Given the description of an element on the screen output the (x, y) to click on. 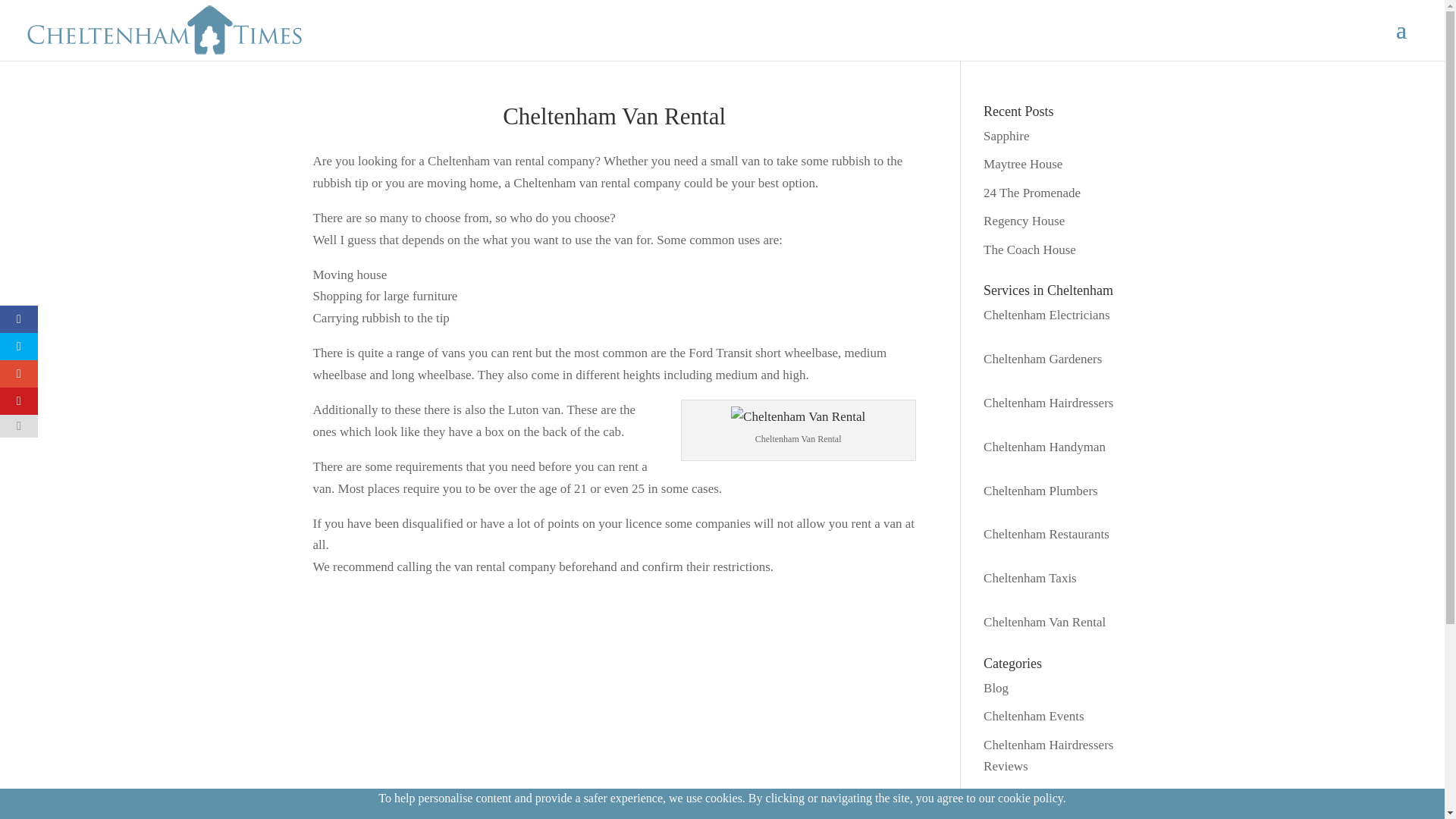
Cheltenham Plumbers (1040, 490)
A list of Cheltenham Electricians (1046, 314)
Regency House (1024, 220)
Cheltenham Hairdressers (1048, 402)
Cheltenham Van Rental (797, 416)
Cheltenham Van Rental (797, 417)
Cheltenham Restaurant Reviews (1043, 803)
A list of Cheltenham Handyman (1044, 446)
Cheltenham Taxis (1030, 577)
Blog (996, 687)
24 The Promenade (1032, 192)
A list of Cheltenham Hairdressers (1048, 402)
A list of Cheltenham Restaurants (1046, 534)
The Coach House (1029, 249)
Sapphire (1006, 135)
